Given the description of an element on the screen output the (x, y) to click on. 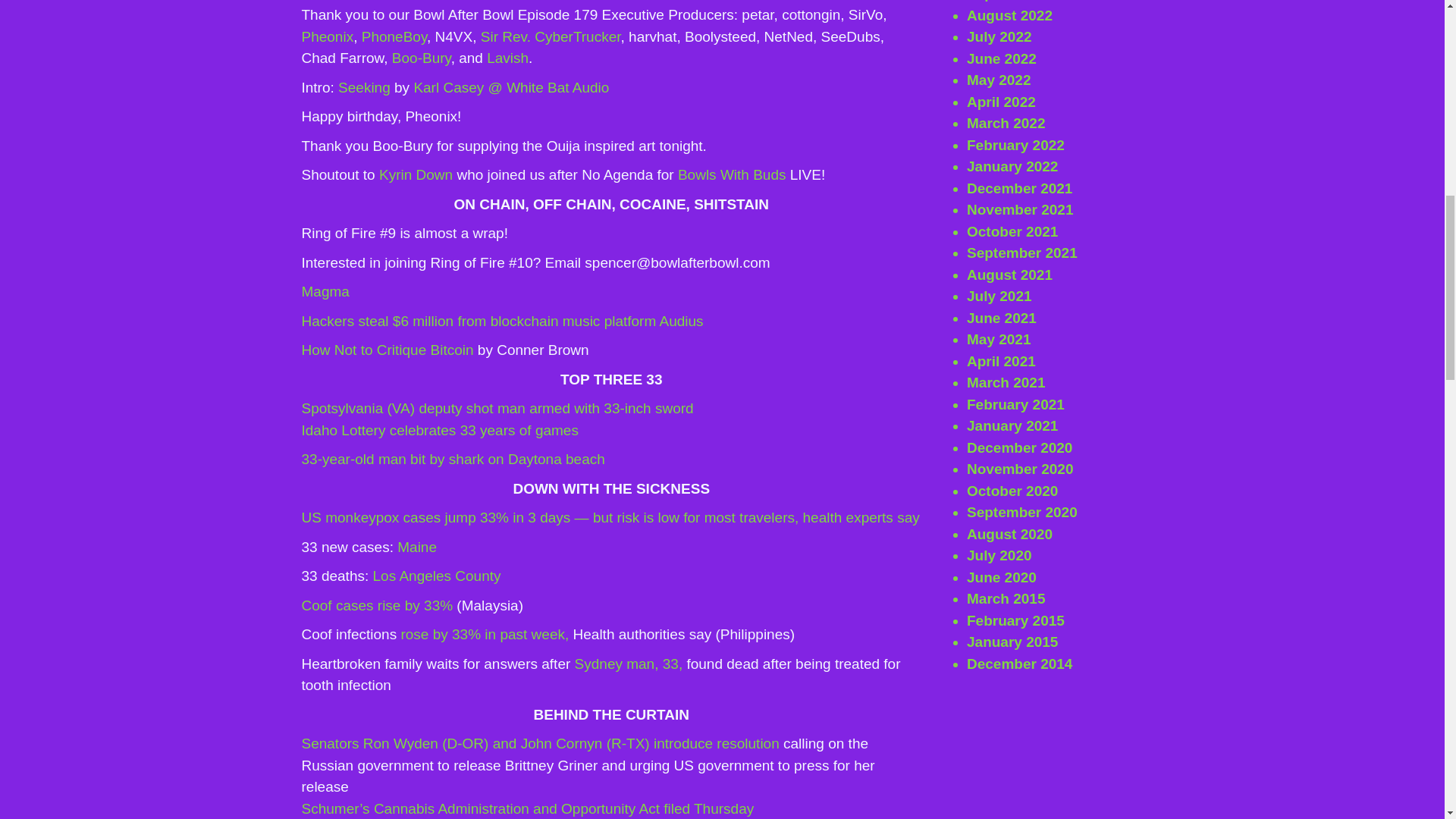
PhoneBoy (393, 36)
How Not to Critique Bitcoin (387, 349)
Magma (325, 291)
Maine (416, 546)
Lavish (507, 57)
Kyrin Down (415, 174)
Pheonix (327, 36)
Sydney man, 33, (626, 663)
Idaho Lottery celebrates 33 years of games (439, 430)
Bowls With Buds (732, 174)
